Given the description of an element on the screen output the (x, y) to click on. 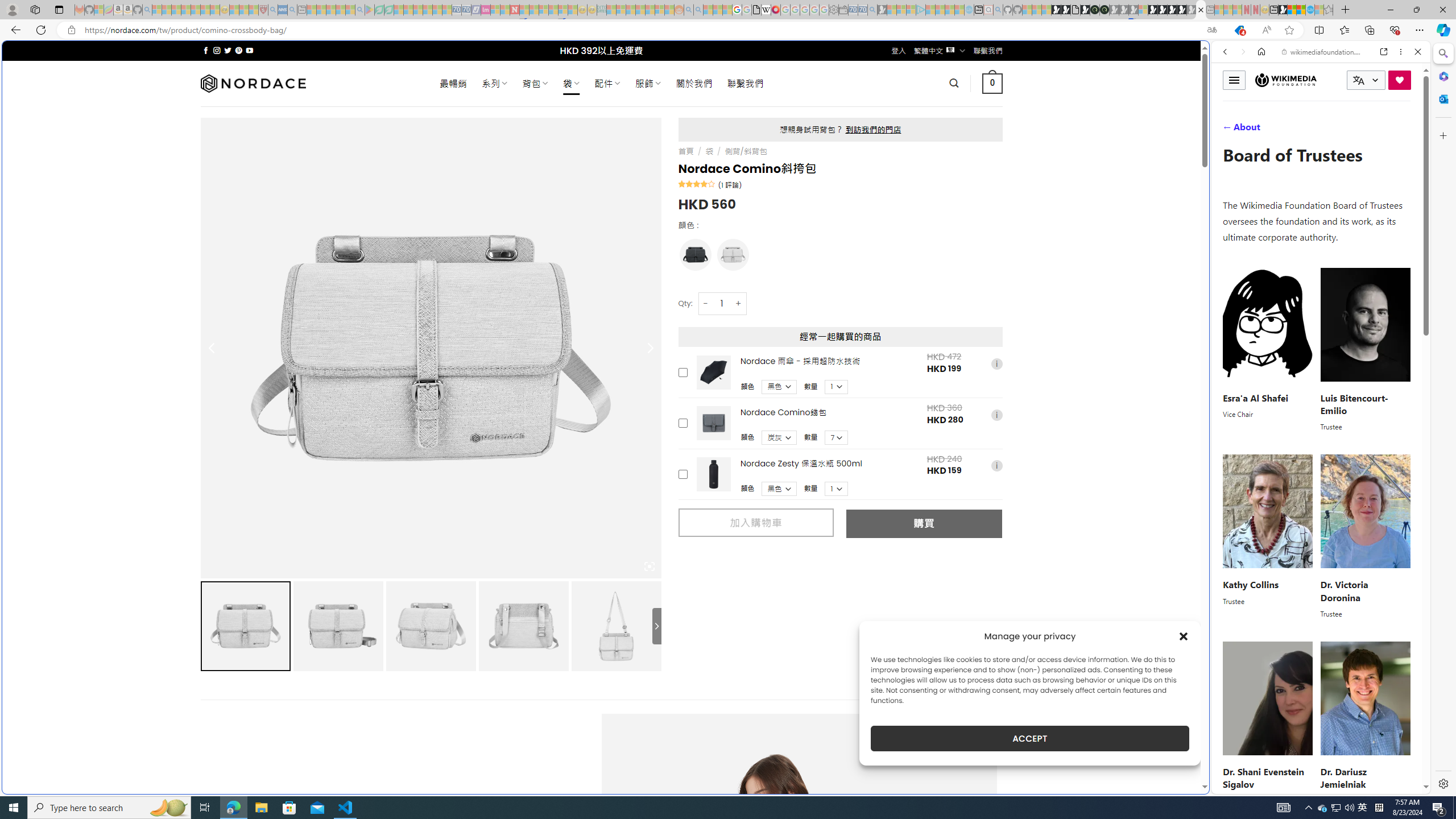
Dr. Shani Evenstein Sigalov (1262, 777)
Kathy CollinsTrustee (1268, 536)
Class: upsell-v2-product-upsell-variable-product-qty-select (836, 488)
Dr. Shani Evenstein SigalovTrustee (1268, 723)
